Given the description of an element on the screen output the (x, y) to click on. 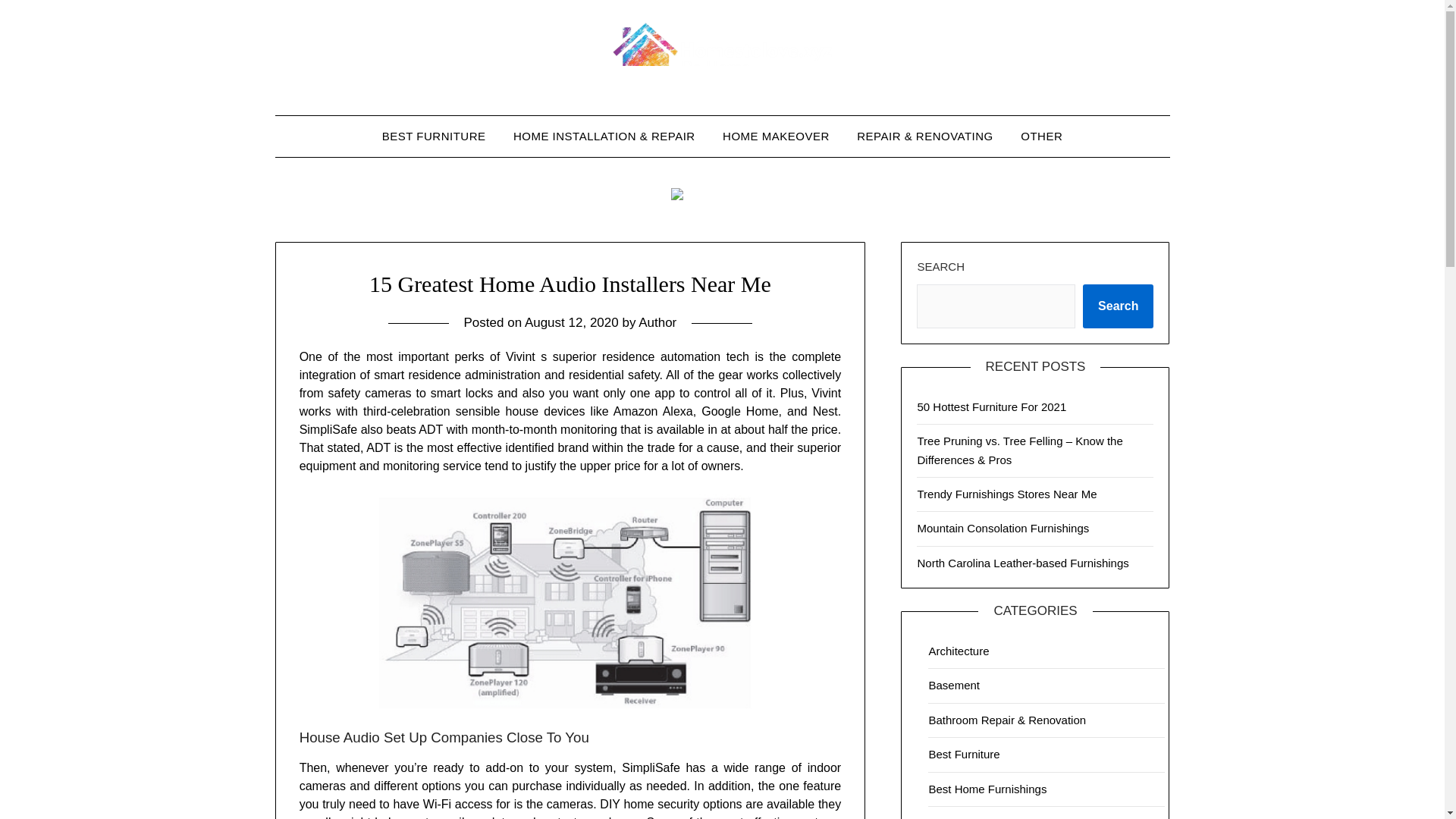
August 12, 2020 (571, 322)
BEST FURNITURE (433, 136)
Mountain Consolation Furnishings (1003, 527)
50 Hottest Furniture For 2021 (991, 406)
Trendy Furnishings Stores Near Me (1006, 493)
OTHER (1041, 136)
HOME MAKEOVER (775, 136)
Search (1118, 306)
Author (658, 322)
